Given the description of an element on the screen output the (x, y) to click on. 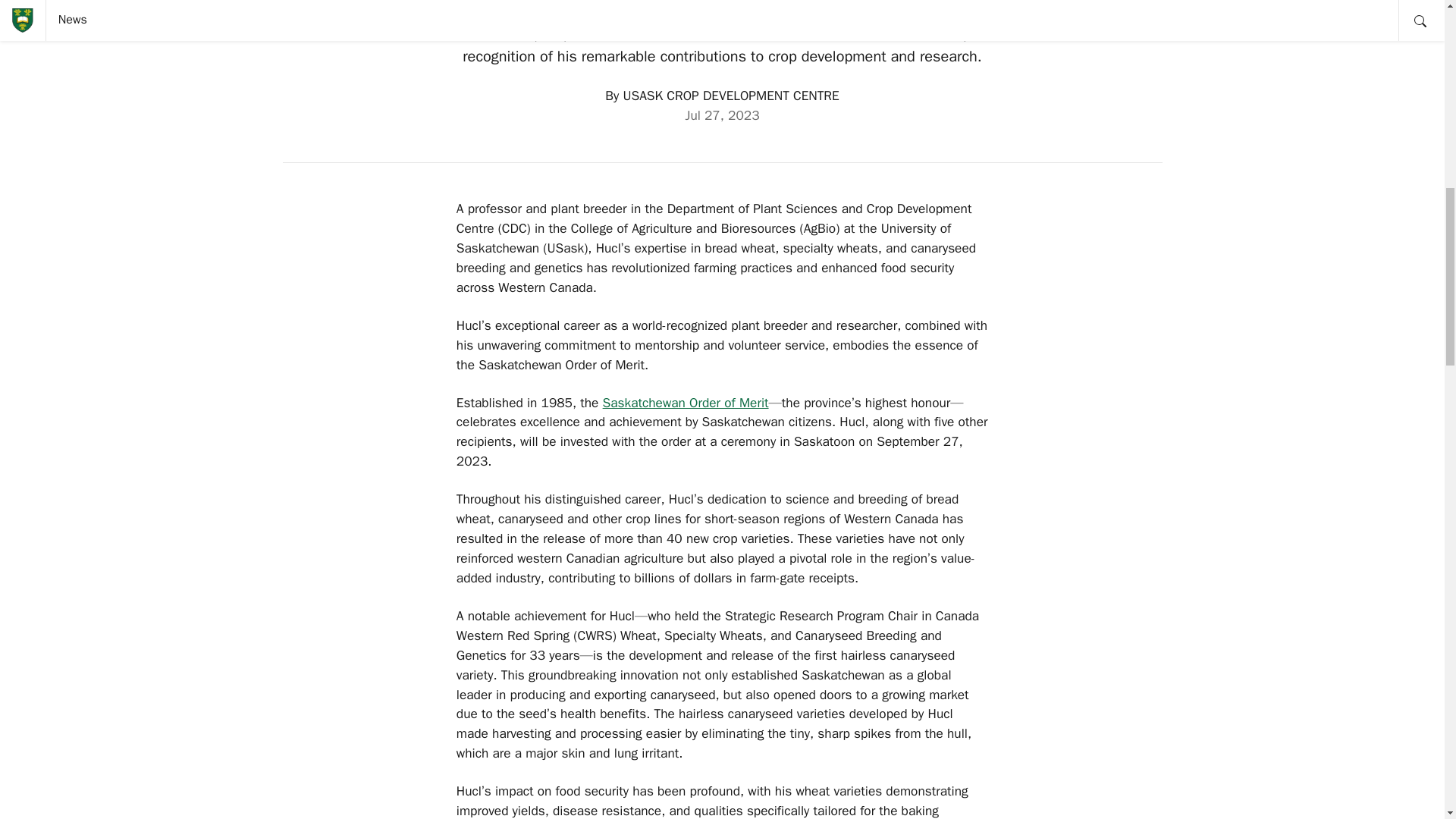
Saskatchewan Order of Merit (685, 402)
